Given the description of an element on the screen output the (x, y) to click on. 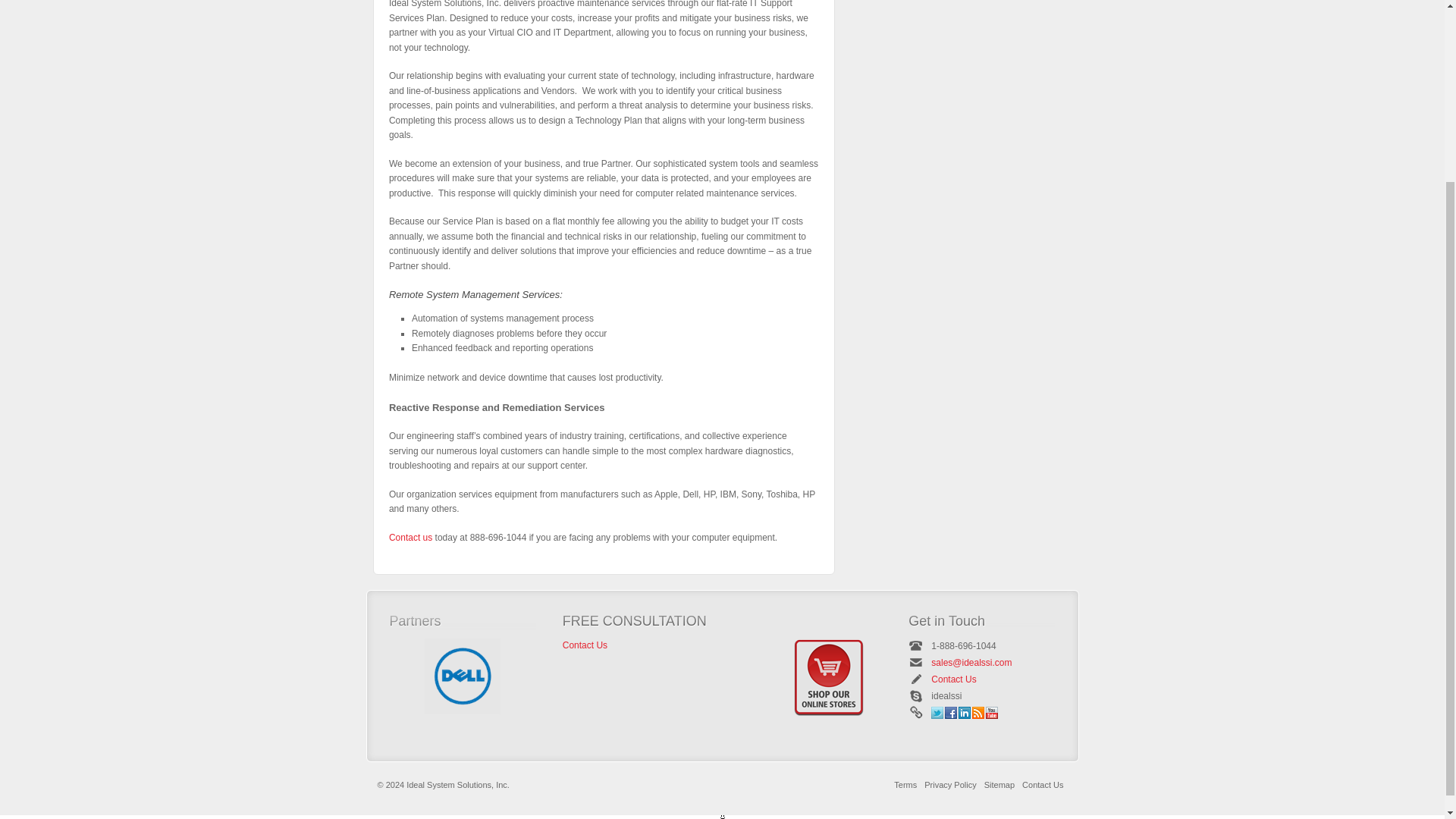
Twitter (937, 712)
Contact Us (410, 537)
Partners (462, 676)
